Given the description of an element on the screen output the (x, y) to click on. 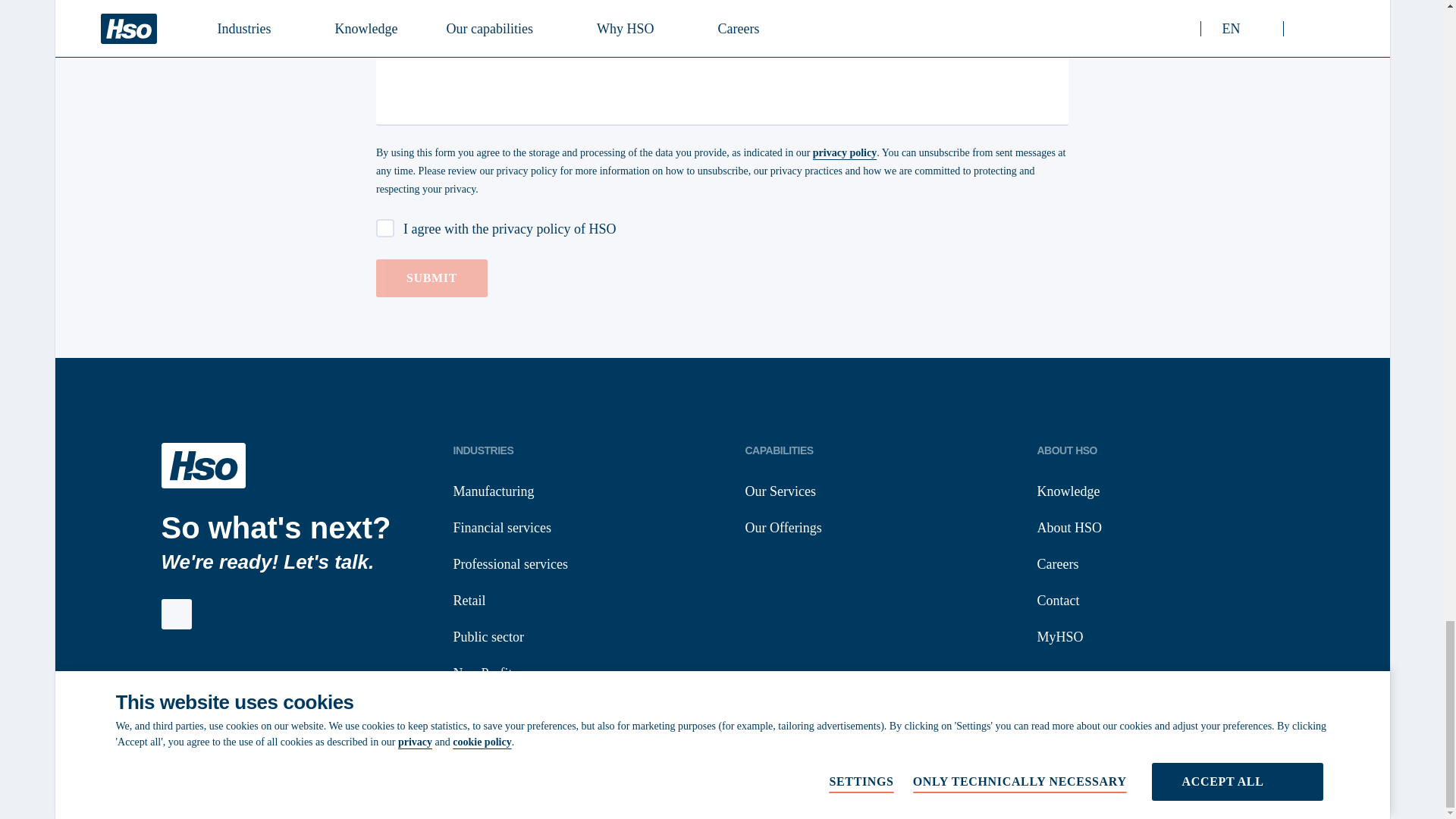
Submit (431, 278)
true (384, 228)
